Given the description of an element on the screen output the (x, y) to click on. 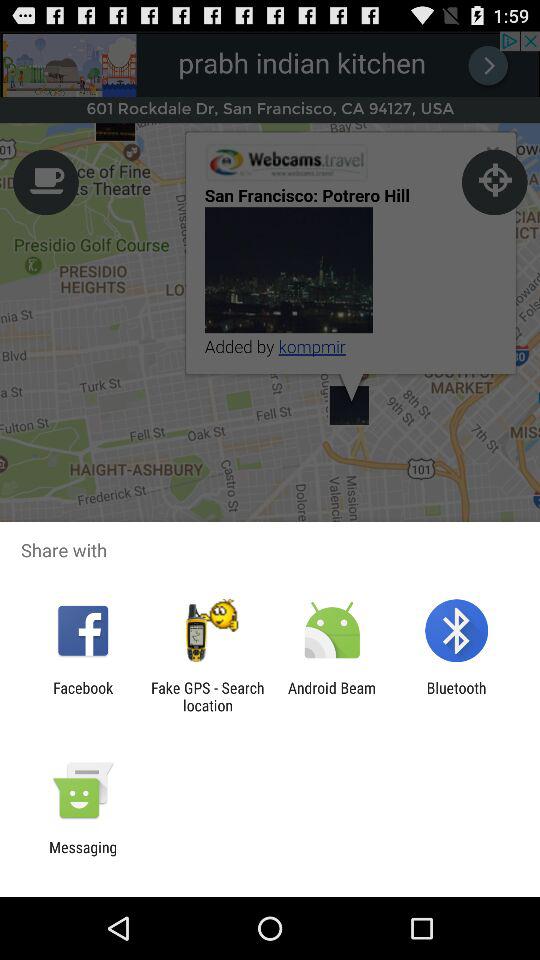
launch the item to the right of facebook app (207, 696)
